Given the description of an element on the screen output the (x, y) to click on. 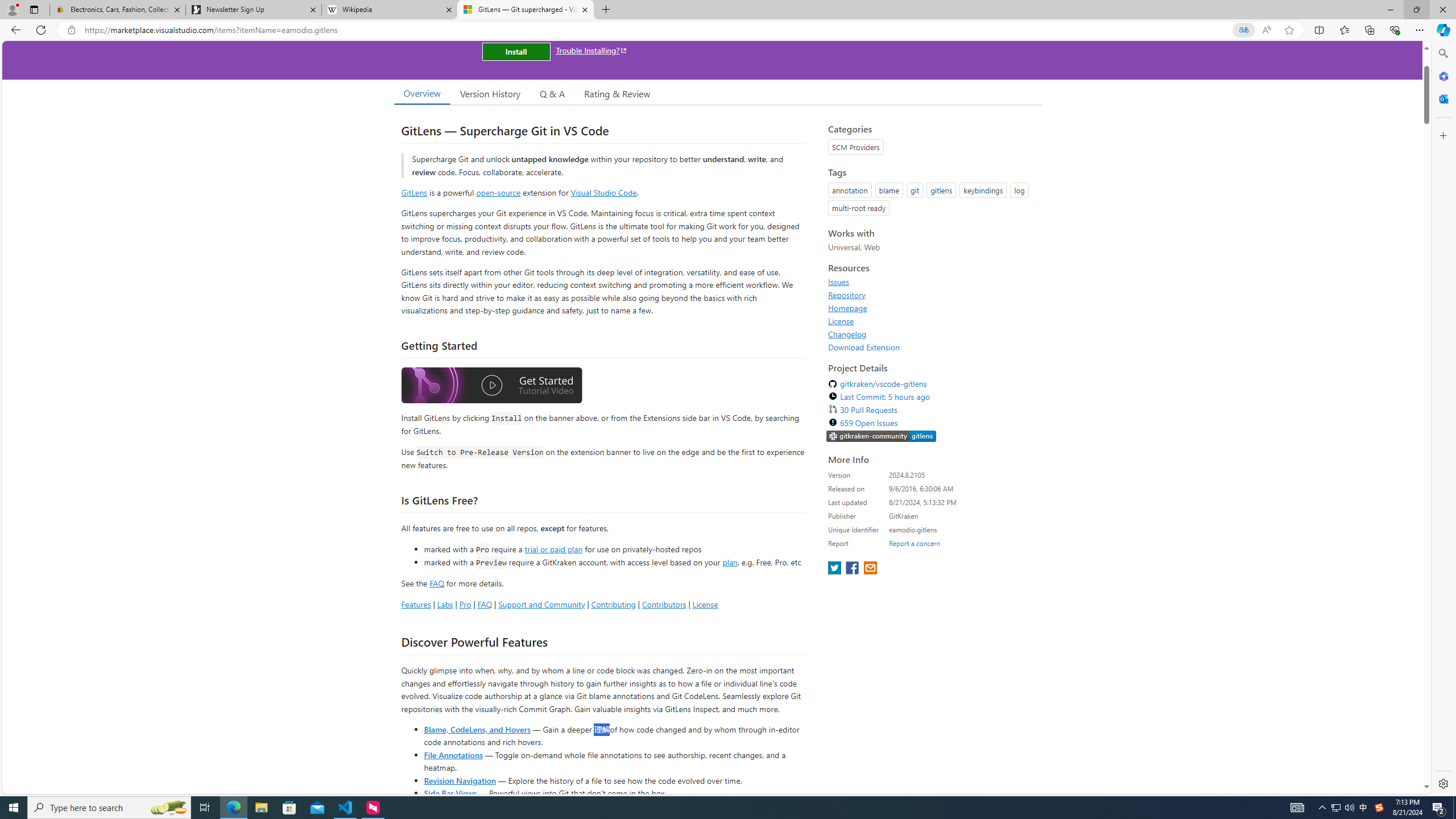
Rating & Review (618, 92)
Settings and more (Alt+F) (1419, 29)
Homepage (847, 307)
Browser essentials (1394, 29)
Changelog (931, 333)
Address and search bar (658, 29)
Watch the GitLens Getting Started video (491, 387)
Support and Community (541, 603)
Repository (847, 294)
Microsoft 365 (1442, 76)
View site information (70, 29)
